Given the description of an element on the screen output the (x, y) to click on. 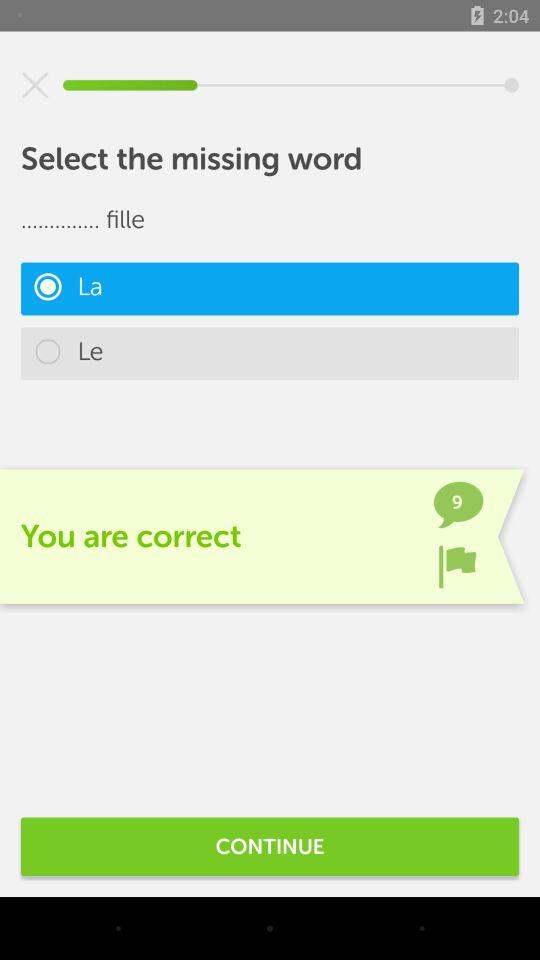
turn off the item next to you are correct (457, 566)
